Given the description of an element on the screen output the (x, y) to click on. 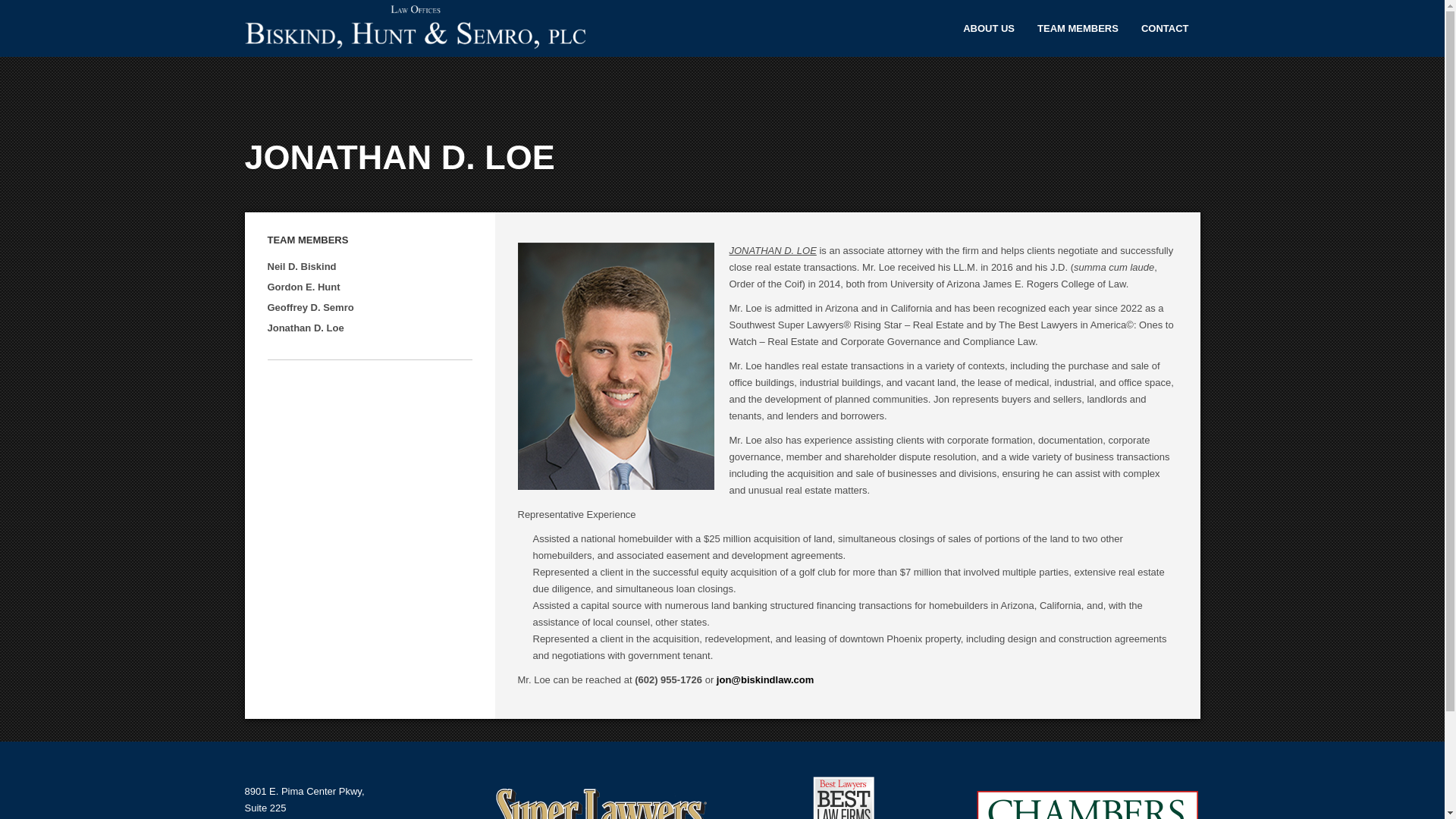
Geoffrey D. Semro (309, 321)
Neil D. Biskind (301, 281)
Jonathan D. Loe (304, 340)
Gordon E. Hunt (302, 301)
